Given the description of an element on the screen output the (x, y) to click on. 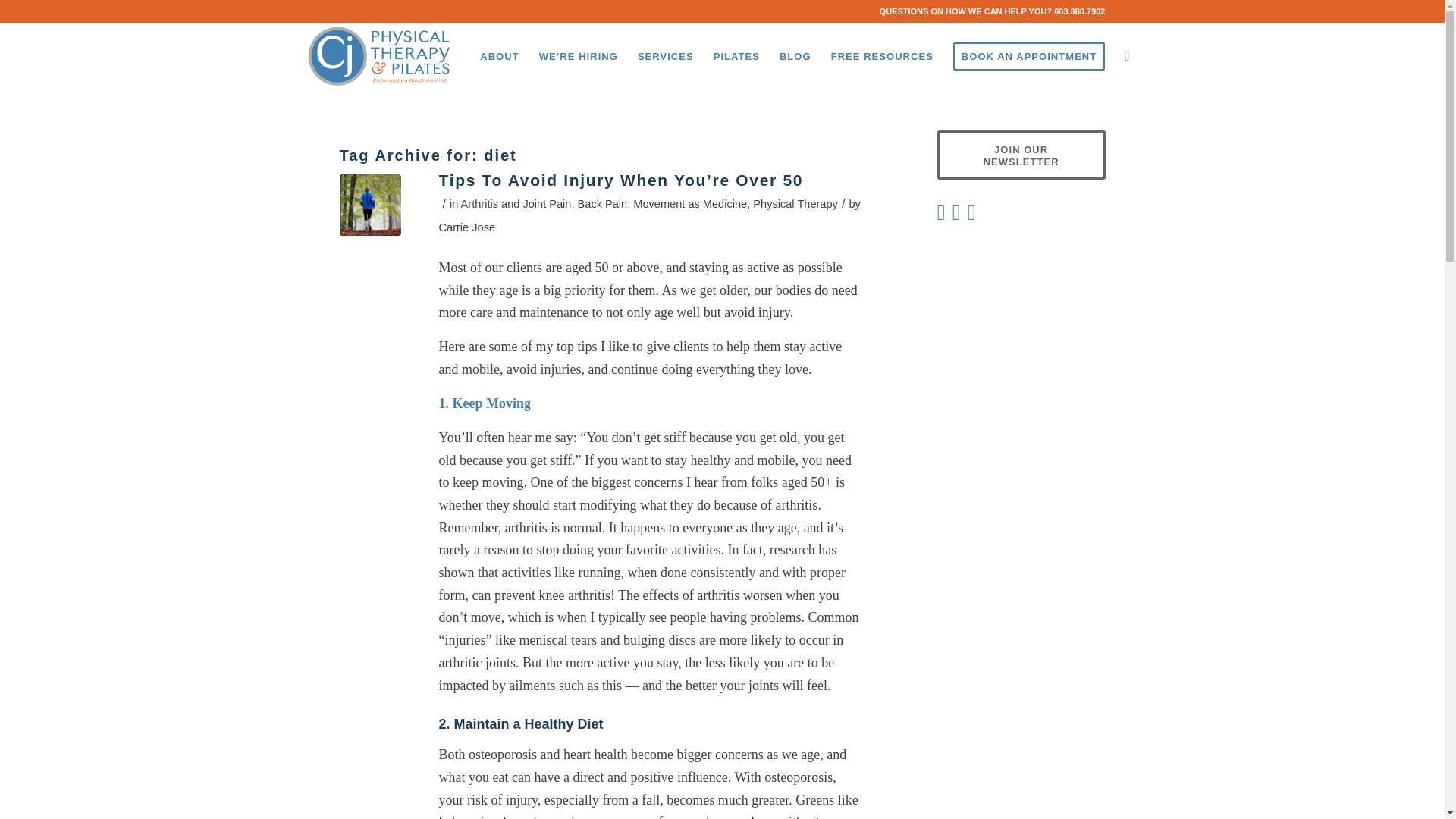
BOOK AN APPOINTMENT (1029, 56)
Talk to a Physical Therapy Specialist for Free (1029, 56)
activities like running (561, 572)
Posts by Carrie Jose (466, 227)
Movement as Medicine (689, 203)
Back, Knee, Neck and Shoulder Pain (882, 56)
603.380.7902 (1079, 10)
Arthritis and Joint Pain (516, 203)
Carrie Jose (466, 227)
Physical Therapy (795, 203)
Physical Therapy and Pilates (665, 56)
SERVICES (665, 56)
PILATES (736, 56)
FREE RESOURCES (882, 56)
knee arthritis (572, 595)
